Given the description of an element on the screen output the (x, y) to click on. 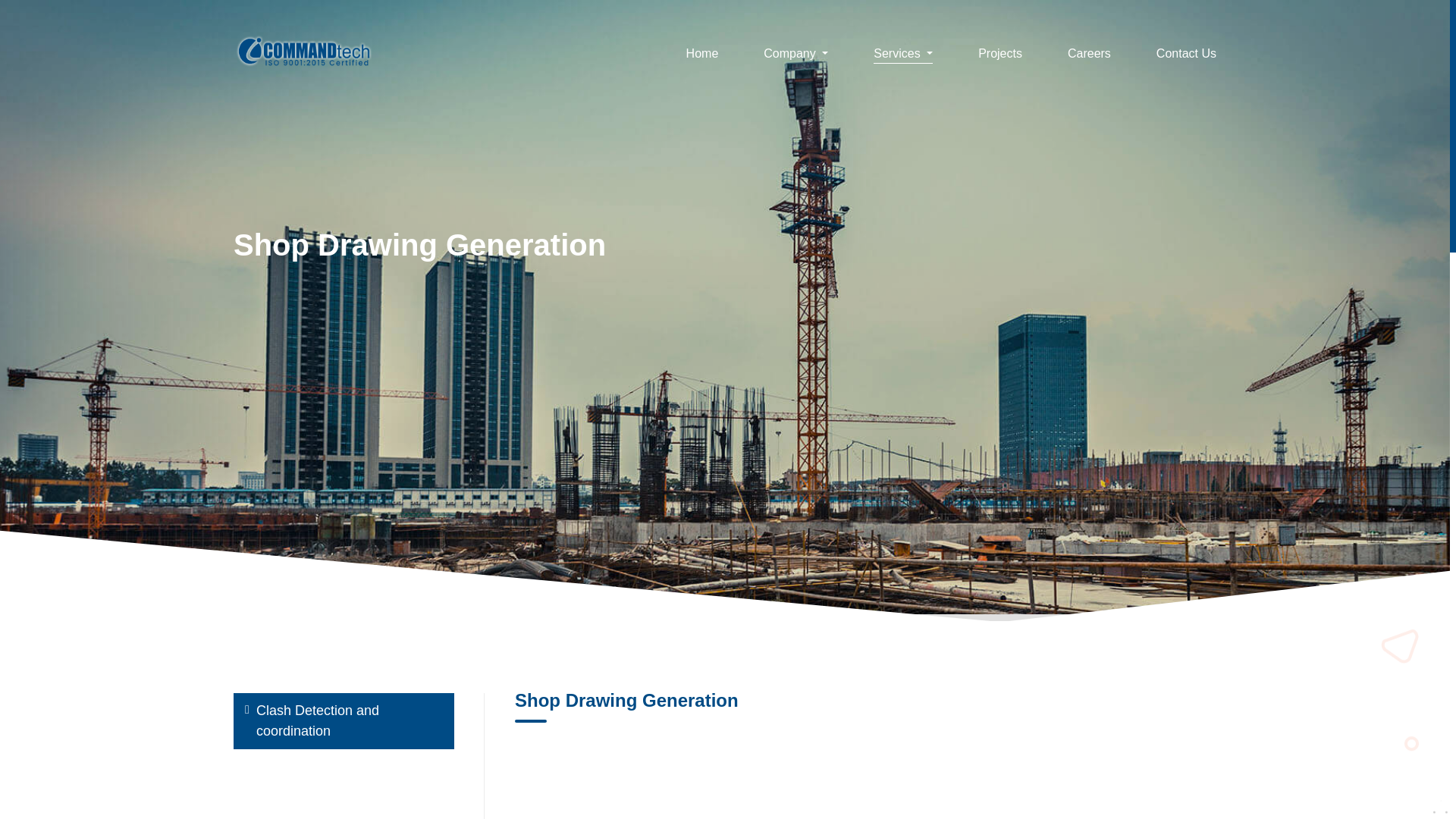
Company (795, 56)
Contact Us (1185, 56)
Projects (1000, 56)
Careers (1088, 56)
Services (903, 56)
Home (702, 56)
